Given the description of an element on the screen output the (x, y) to click on. 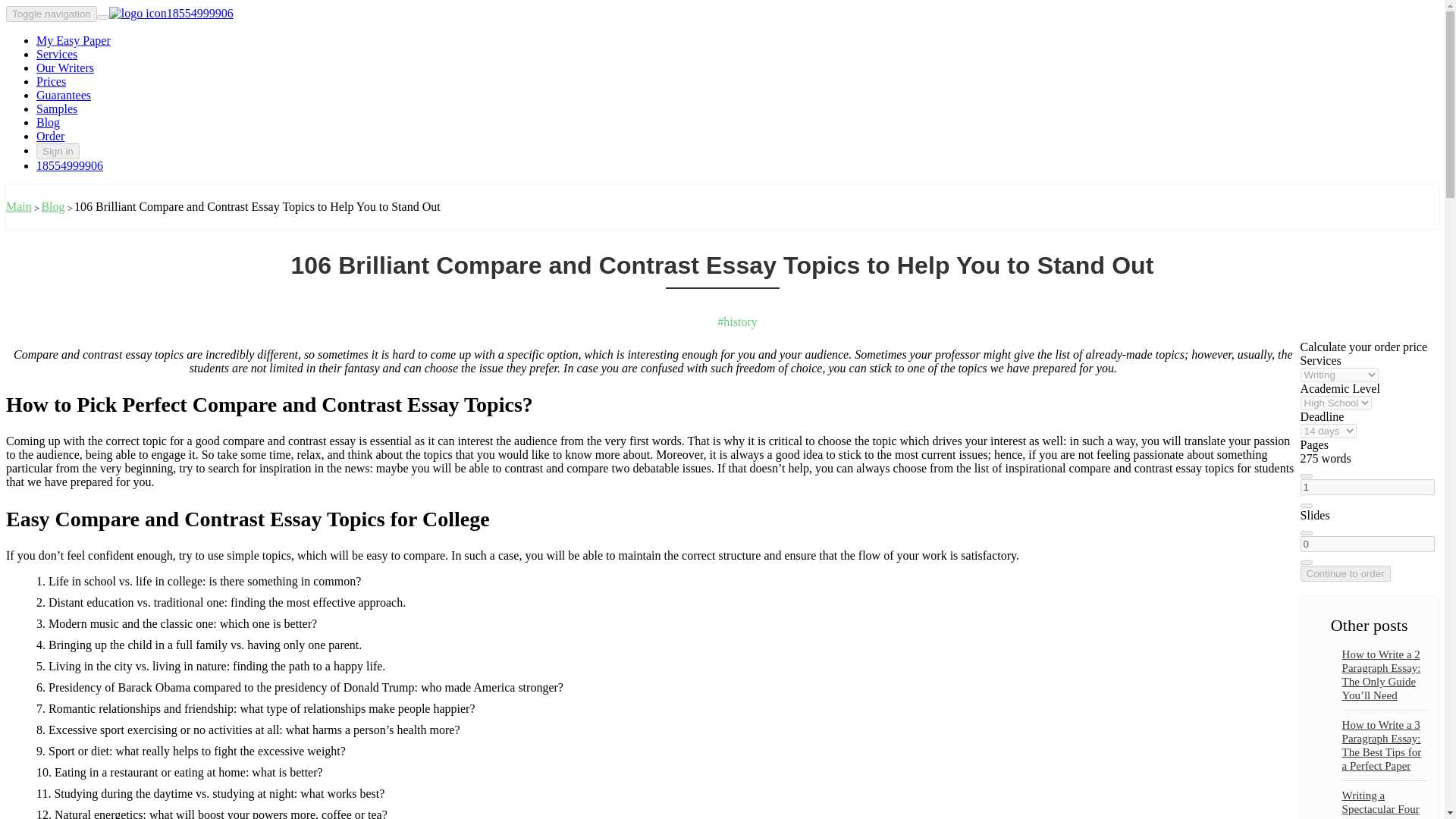
Guarantees (63, 94)
18554999906 (69, 164)
Toggle navigation (51, 13)
Samples (56, 108)
My Easy Paper (73, 40)
Blog (47, 122)
Our Writers (65, 67)
Continue to order (1345, 573)
Prices (50, 81)
Main (18, 205)
Sign in (58, 150)
Services (56, 53)
Order (50, 135)
